Given the description of an element on the screen output the (x, y) to click on. 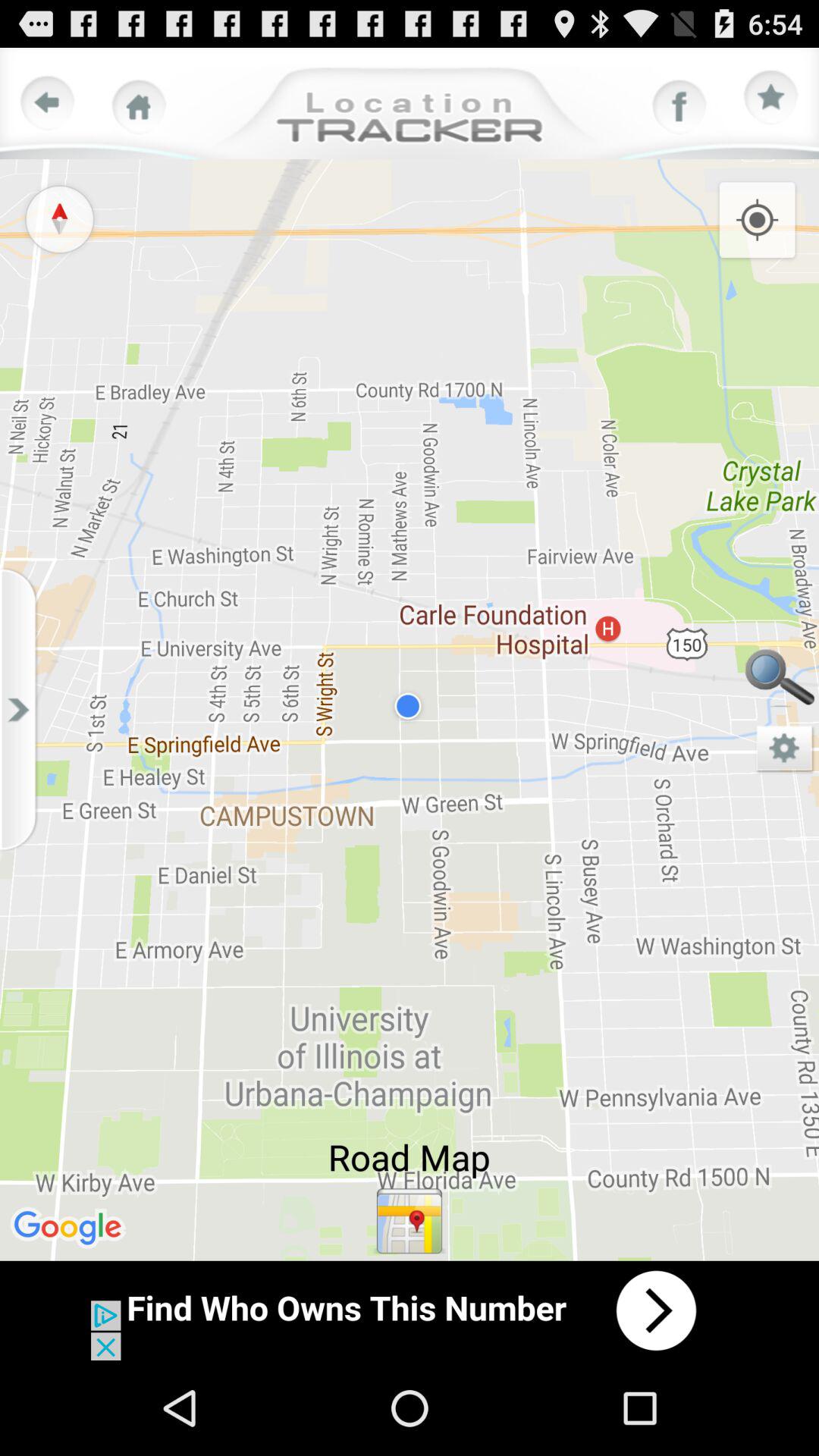
option (771, 97)
